Given the description of an element on the screen output the (x, y) to click on. 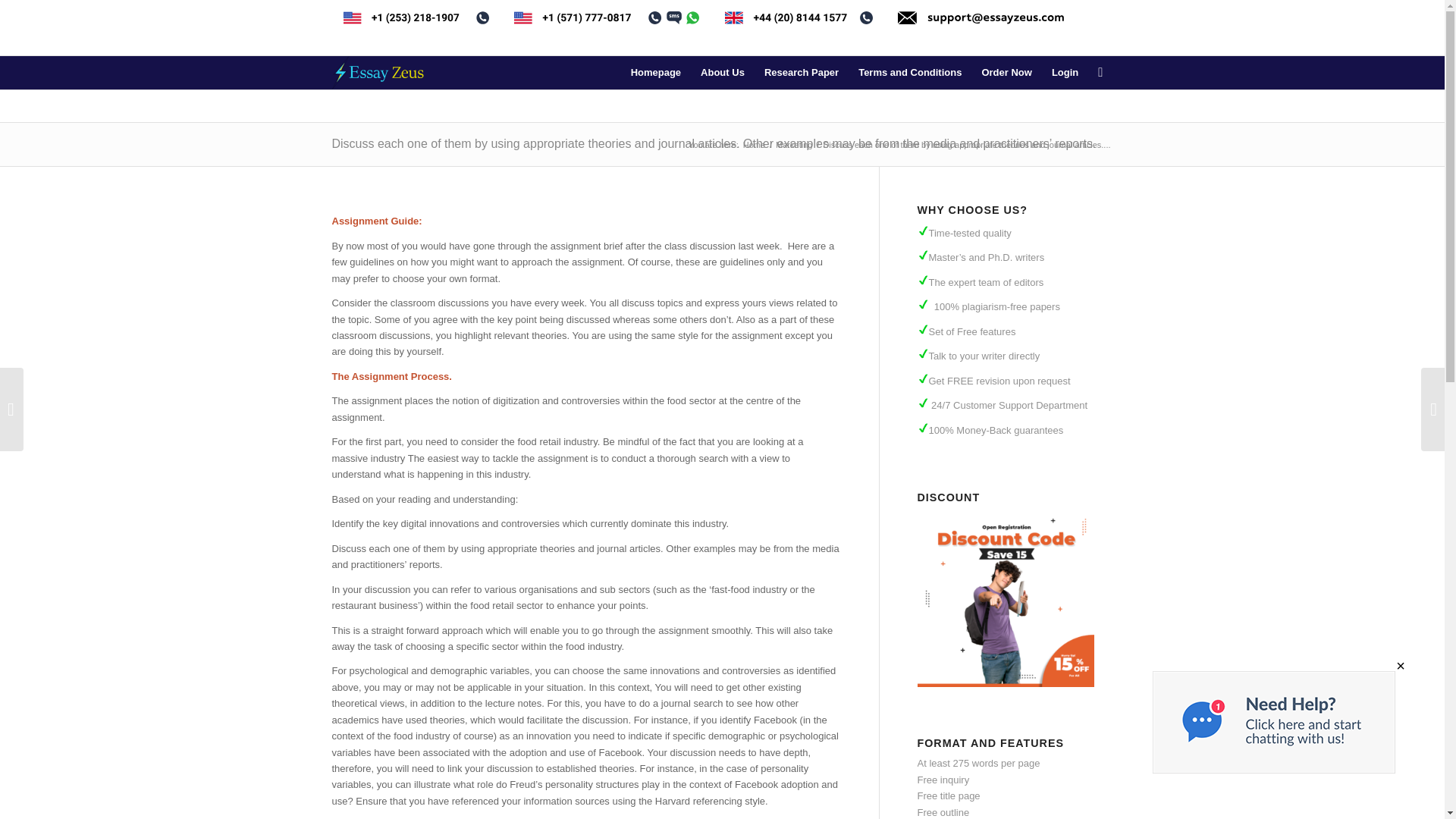
essayZeus (754, 144)
Homepage (655, 72)
Home (754, 144)
Order Now (1006, 72)
Research Paper (801, 72)
Marketing (793, 144)
About Us (722, 72)
Login (1064, 72)
Terms and Conditions (909, 72)
